Given the description of an element on the screen output the (x, y) to click on. 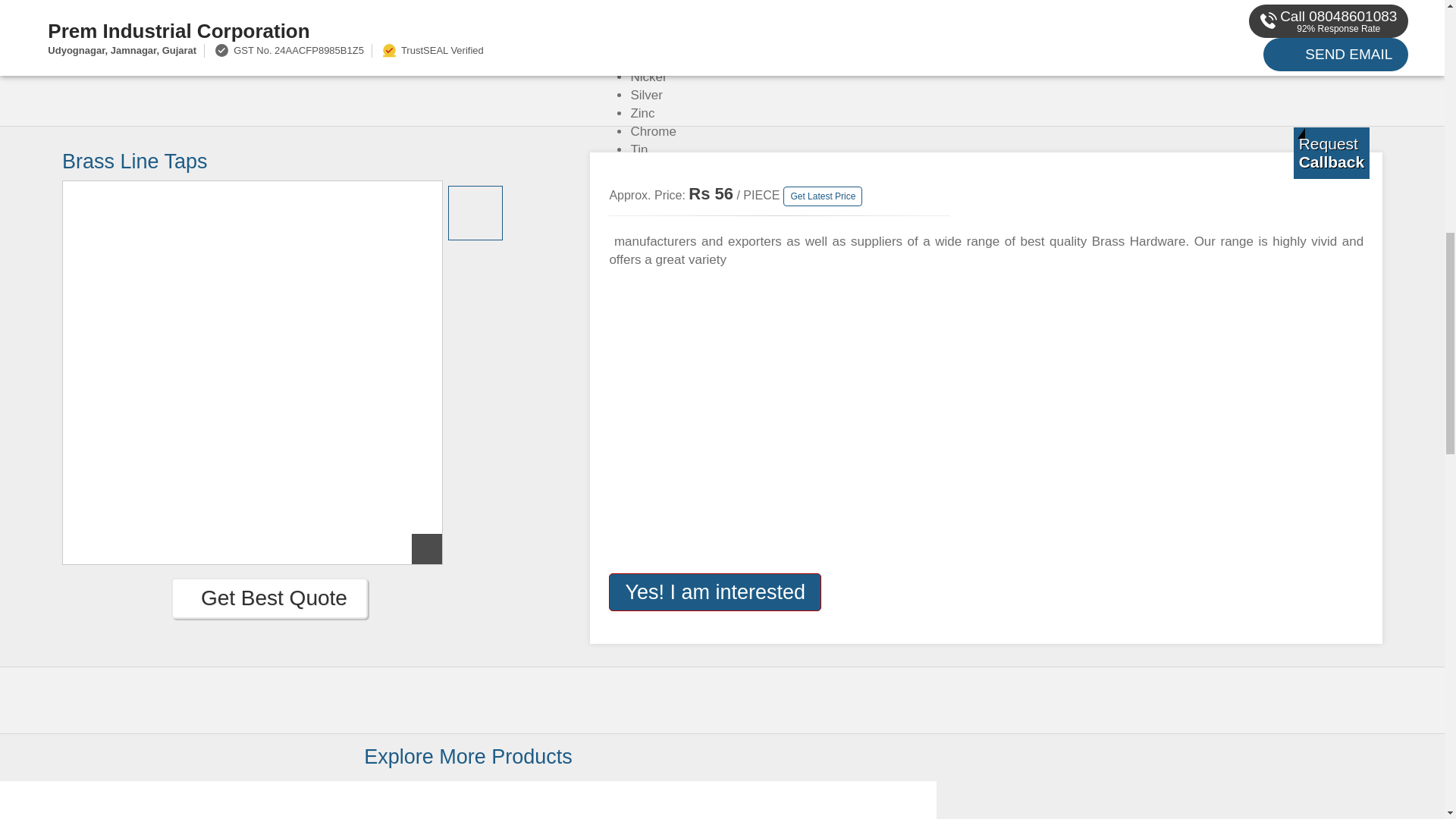
Get a Call from us (1332, 153)
